Given the description of an element on the screen output the (x, y) to click on. 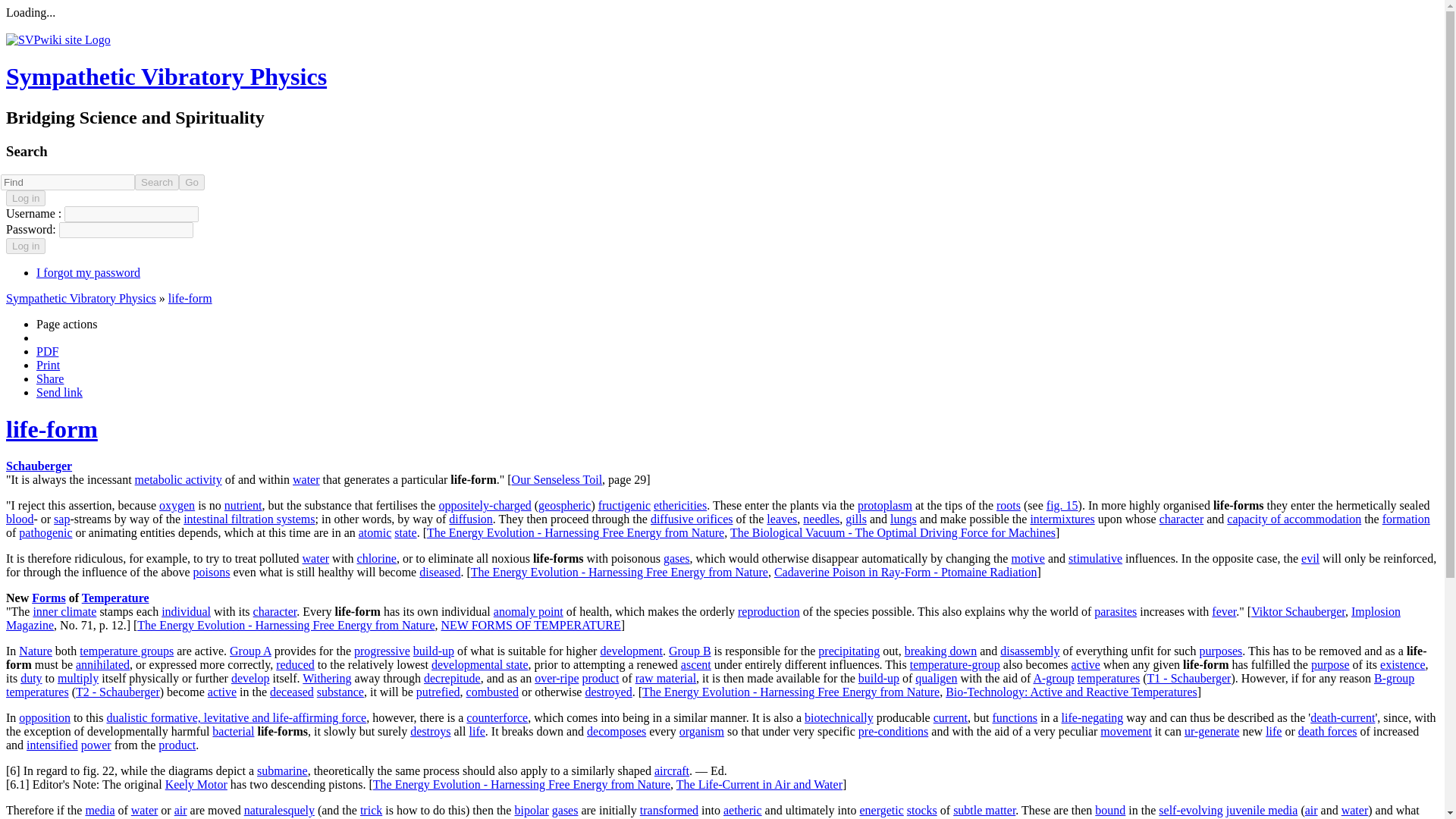
protoplasm (884, 504)
character (1181, 518)
Oxygen (176, 504)
nutrient (243, 504)
Search (157, 182)
Go (192, 182)
geospheric (564, 504)
protoplasm (884, 504)
diffusive orifices (691, 518)
life-form (51, 429)
